Given the description of an element on the screen output the (x, y) to click on. 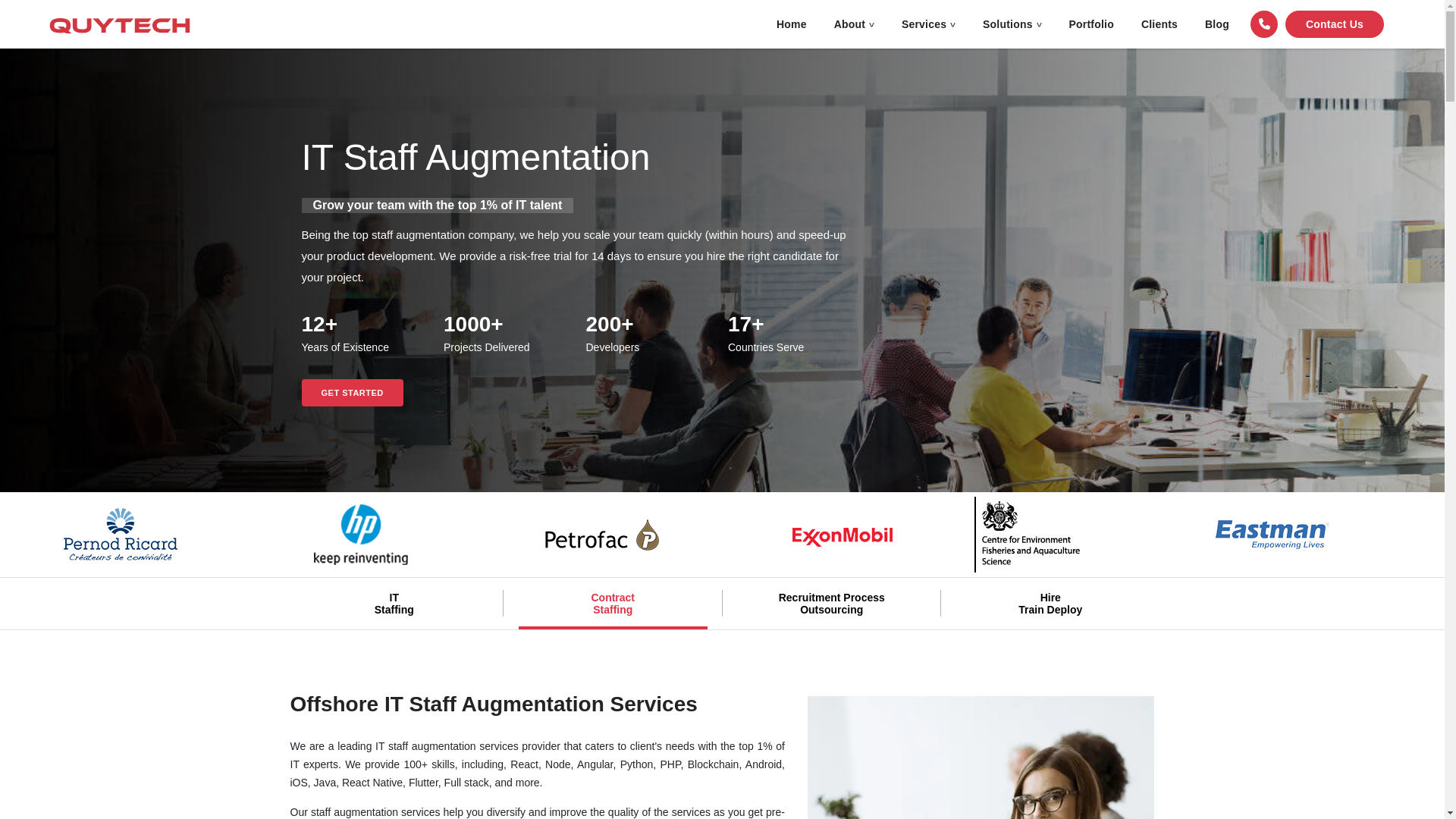
About (854, 24)
Quytech (119, 24)
Home (791, 24)
Services (928, 24)
